Given the description of an element on the screen output the (x, y) to click on. 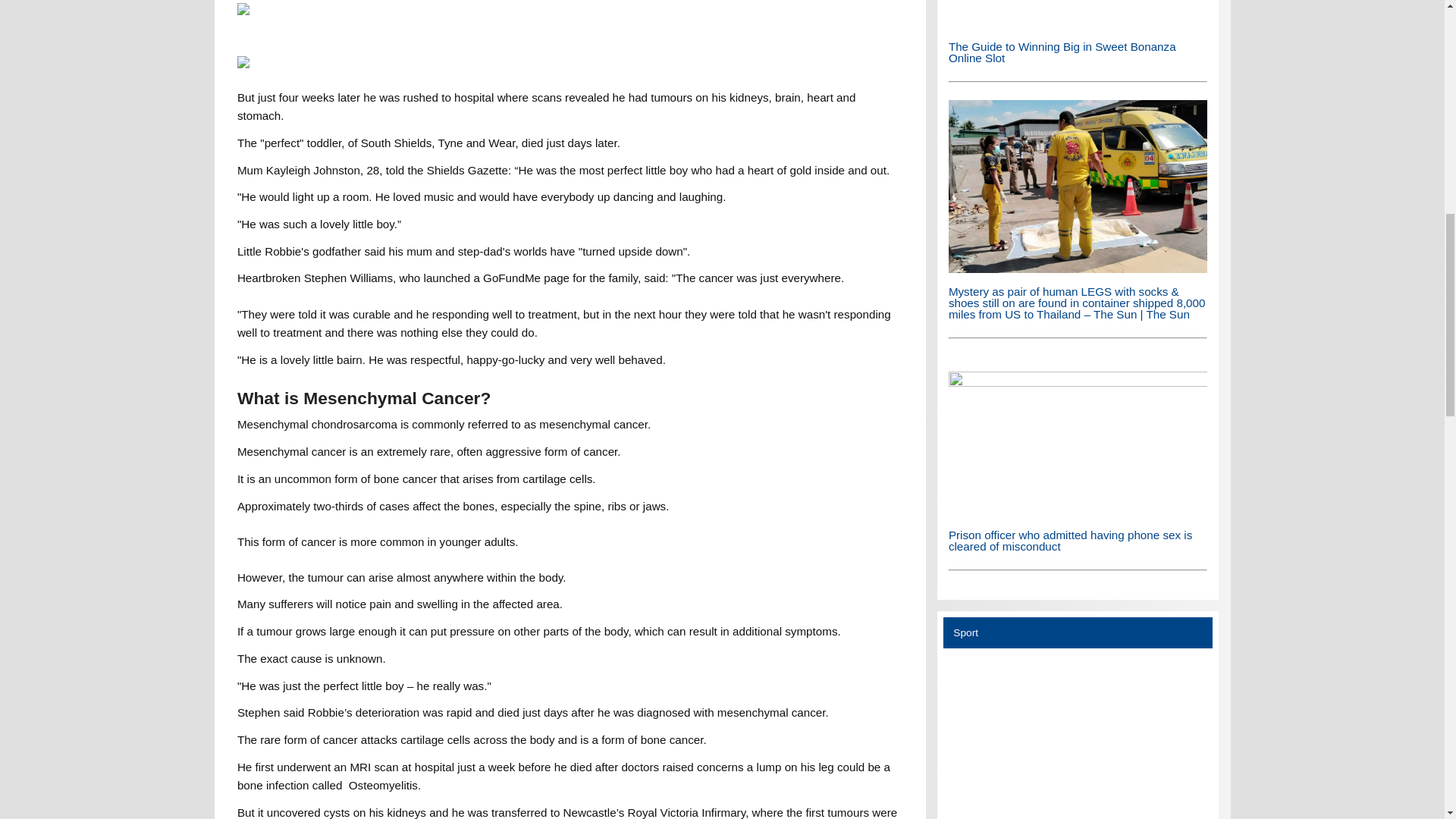
The Guide to Winning Big in Sweet Bonanza Online Slot (1078, 13)
The Guide to Winning Big in Sweet Bonanza Online Slot (1078, 23)
The Guide to Winning Big in Sweet Bonanza Online Slot (1062, 52)
